Given the description of an element on the screen output the (x, y) to click on. 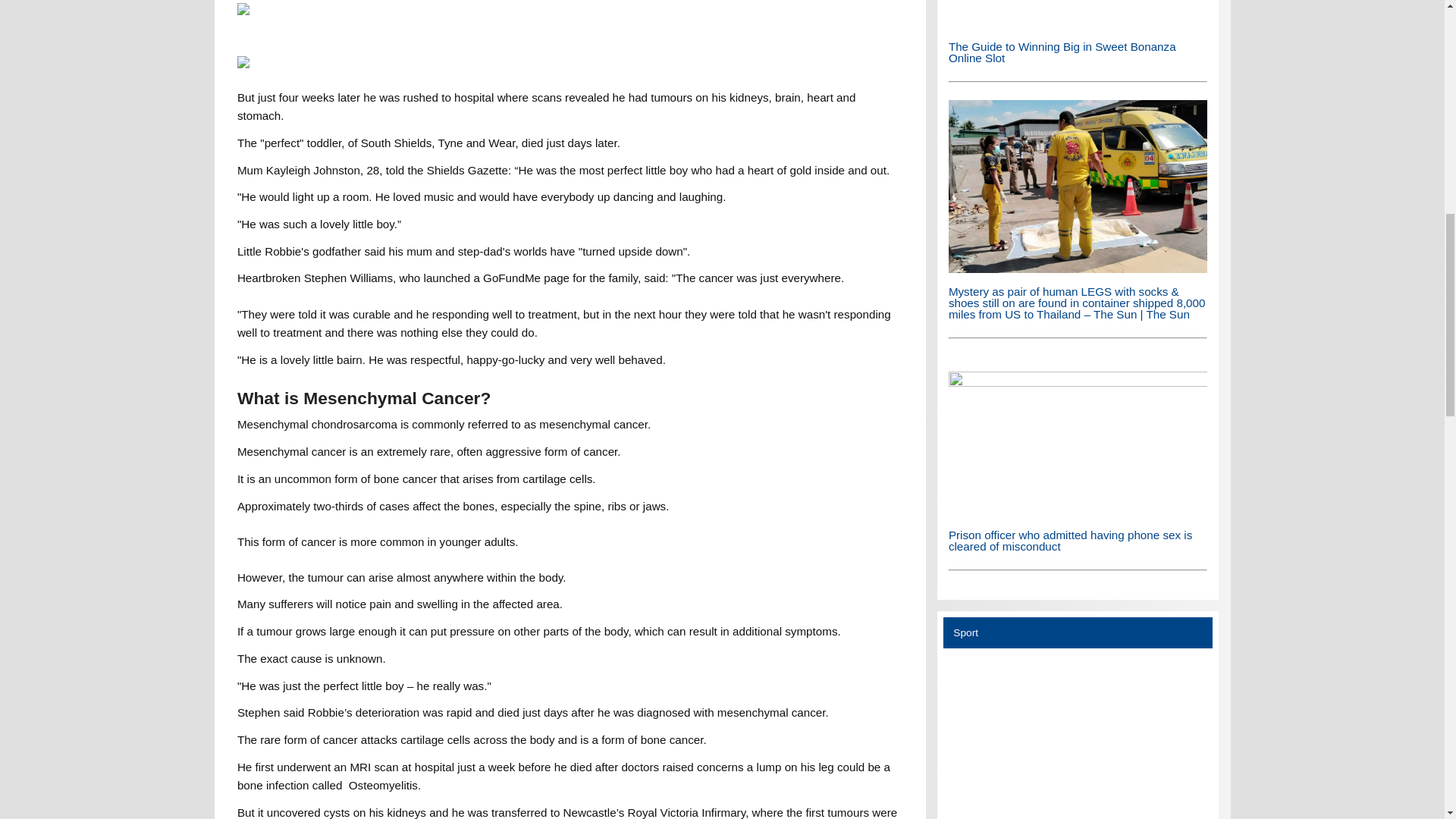
The Guide to Winning Big in Sweet Bonanza Online Slot (1078, 13)
The Guide to Winning Big in Sweet Bonanza Online Slot (1078, 23)
The Guide to Winning Big in Sweet Bonanza Online Slot (1062, 52)
